Given the description of an element on the screen output the (x, y) to click on. 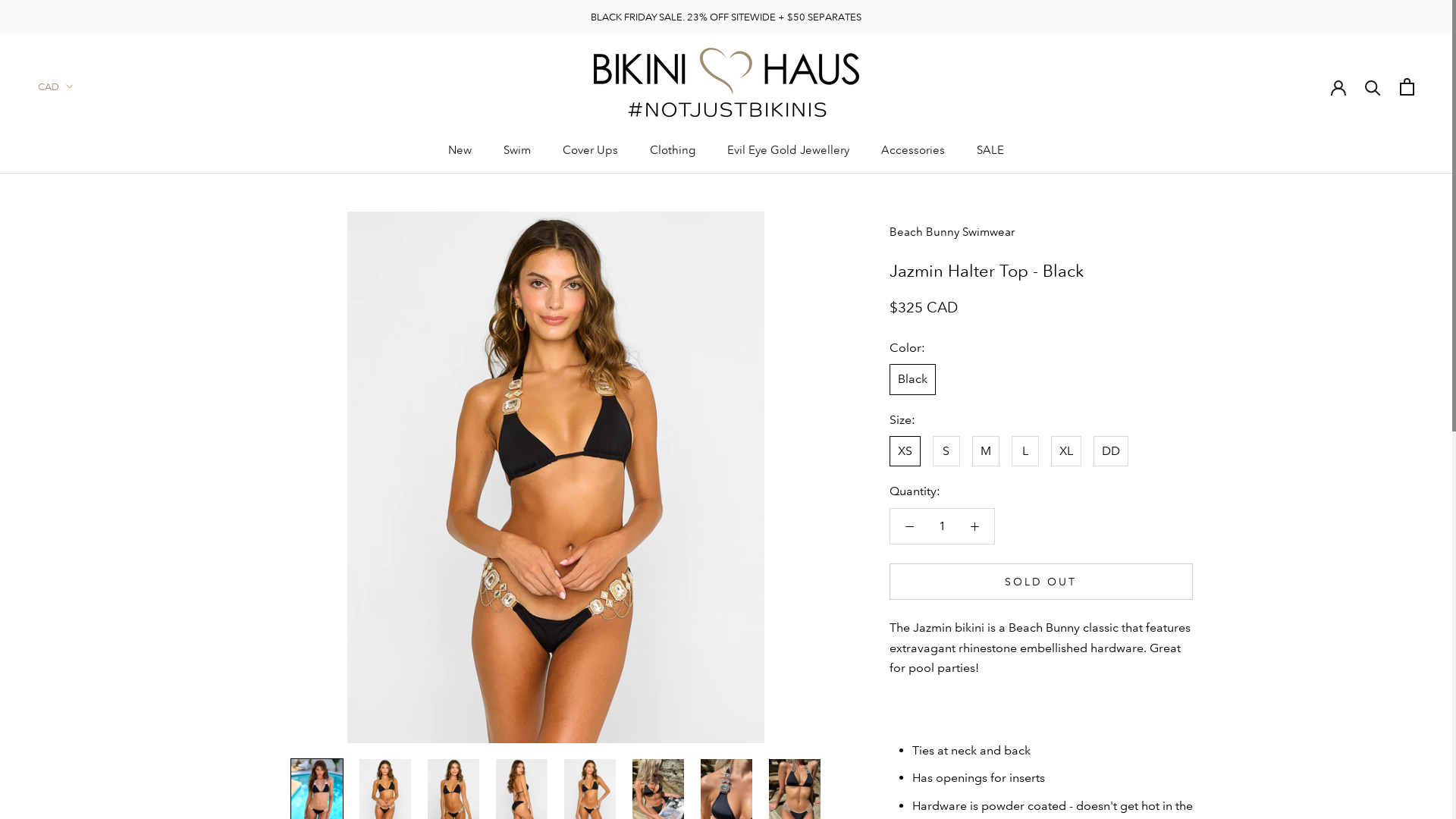
Cover Ups
Cover Ups Element type: text (590, 149)
Swim
Swim Element type: text (516, 149)
Clothing
Clothing Element type: text (672, 149)
New
New Element type: text (459, 149)
BLACK FRIDAY SALE. 23% OFF SITEWIDE + $50 SEPARATES Element type: text (725, 16)
Evil Eye Gold Jewellery
Evil Eye Gold Jewellery Element type: text (788, 149)
SALE
SALE Element type: text (990, 149)
SOLD OUT Element type: text (1040, 581)
Accessories
Accessories Element type: text (912, 149)
